Given the description of an element on the screen output the (x, y) to click on. 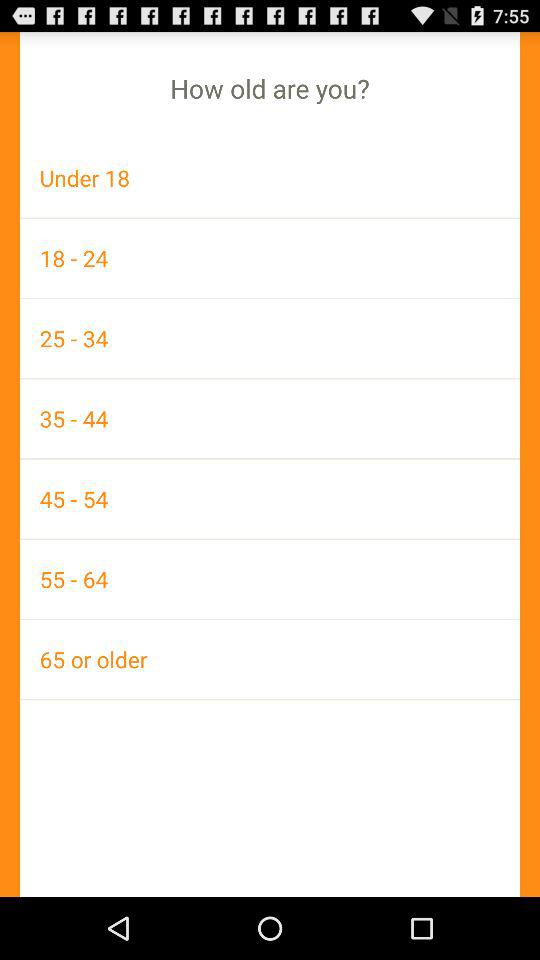
choose icon above 35 - 44 icon (269, 338)
